Given the description of an element on the screen output the (x, y) to click on. 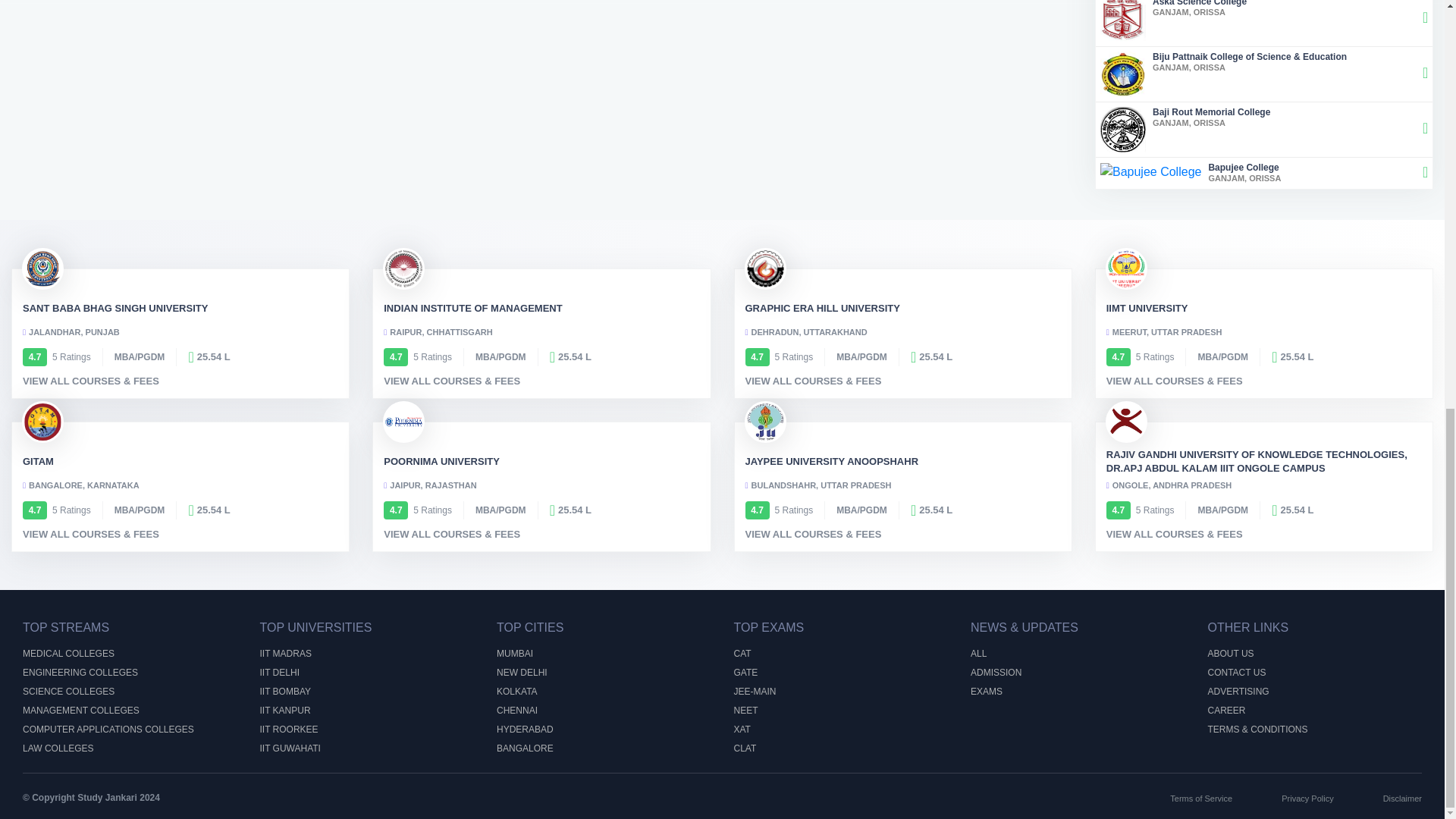
INDIAN INSTITUTE OF MANAGEMENT (1264, 129)
JALANDHAR, PUNJAB (473, 308)
SANT BABA BHAG SINGH UNIVERSITY (1264, 173)
